Given the description of an element on the screen output the (x, y) to click on. 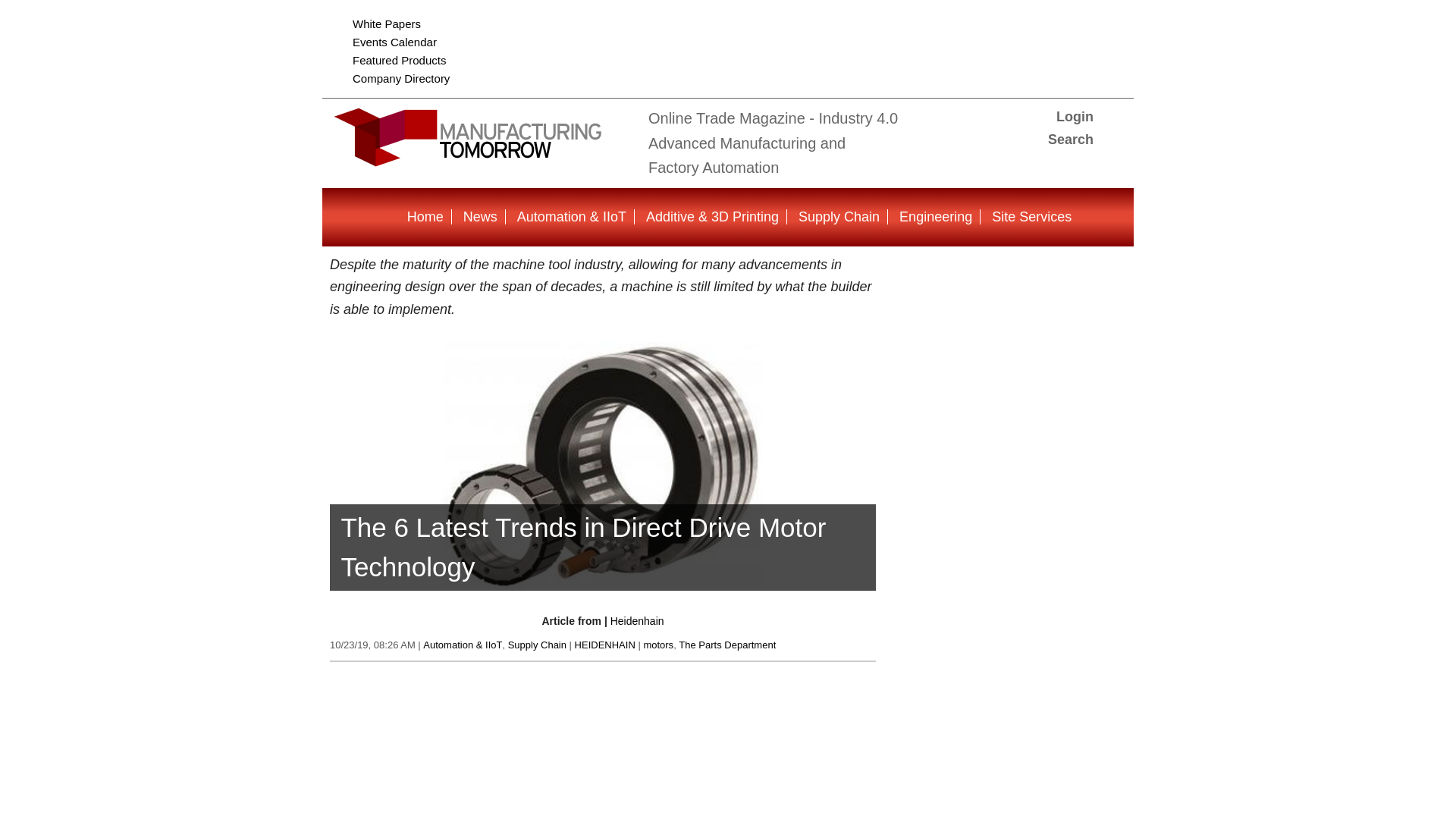
Home (424, 217)
Site Services (1031, 217)
The Parts Department (727, 644)
Company Directory (400, 78)
ManufacturingTomorrow (481, 159)
HEIDENHAIN (604, 644)
Heidenhain (636, 621)
White Papers (386, 23)
motors (657, 644)
News (480, 217)
